Given the description of an element on the screen output the (x, y) to click on. 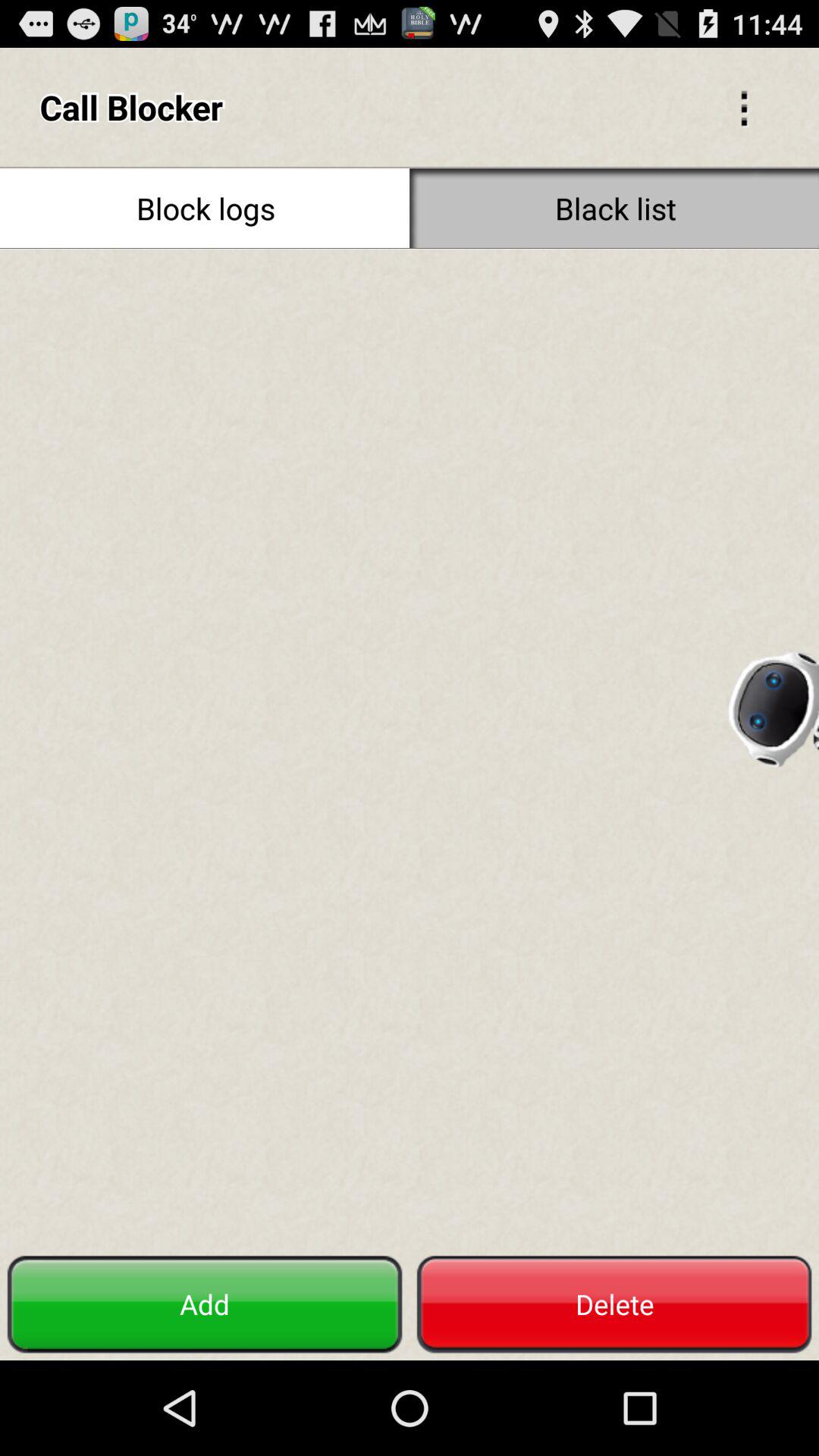
flip until add item (204, 1304)
